Given the description of an element on the screen output the (x, y) to click on. 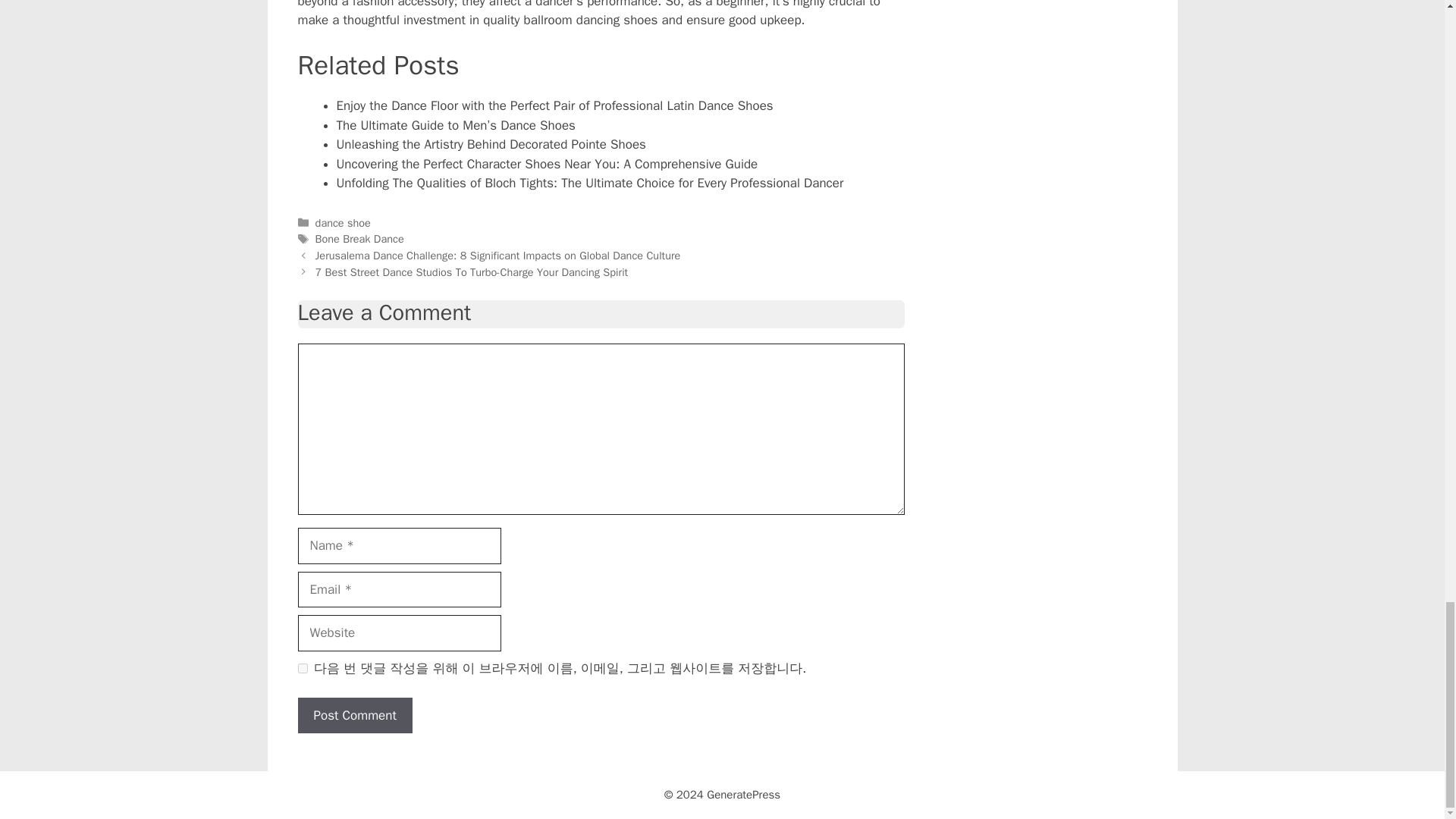
yes (302, 668)
Post Comment (354, 715)
dance shoe (343, 223)
Unleashing the Artistry Behind Decorated Pointe Shoes (491, 144)
Post Comment (354, 715)
